Given the description of an element on the screen output the (x, y) to click on. 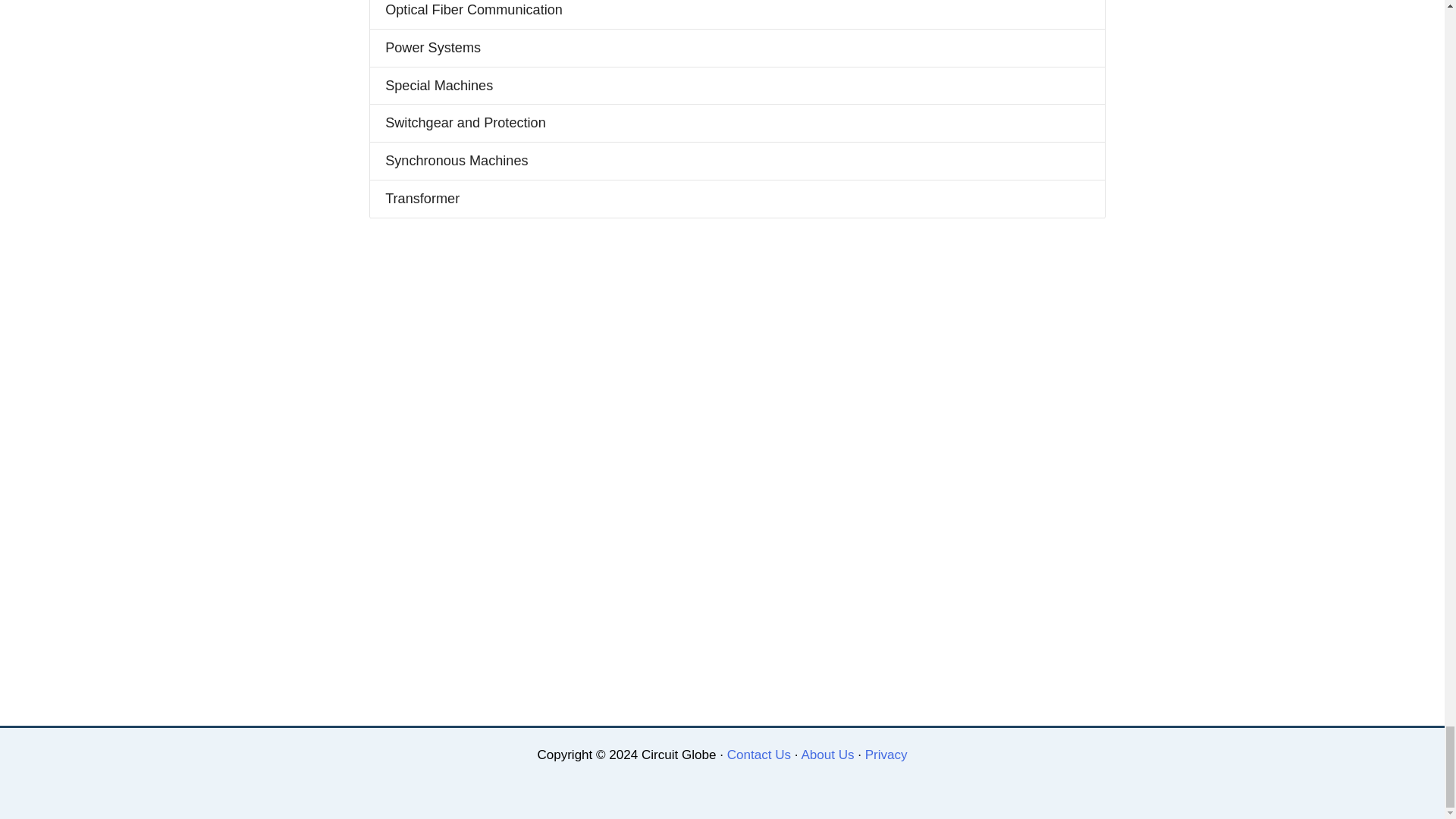
Privacy (885, 754)
Contact Us (758, 754)
About Us (826, 754)
